Given the description of an element on the screen output the (x, y) to click on. 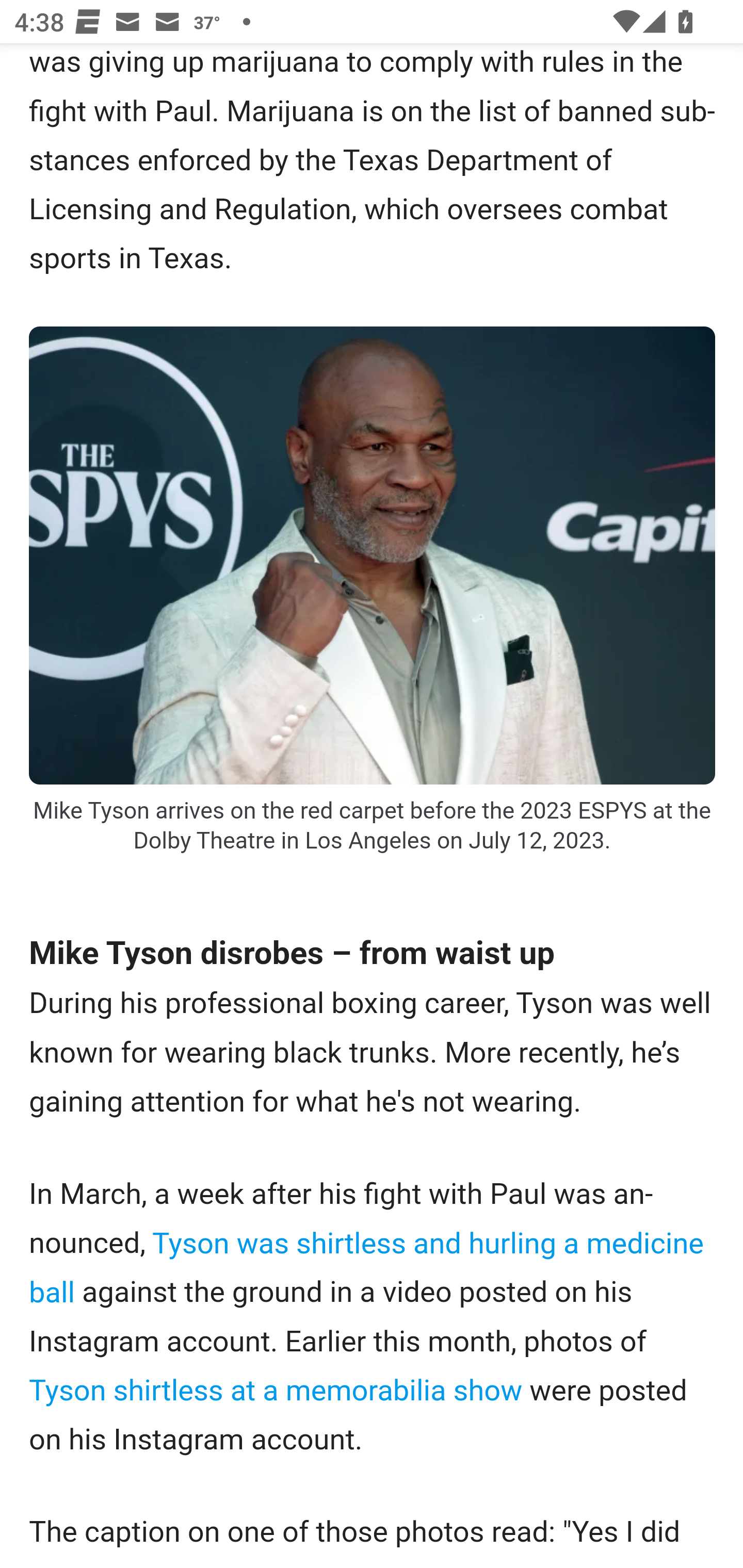
Tyson was shirtless and hurling a medicine ball (366, 1267)
Tyson shirtless at a memorabilia show  (279, 1388)
